Given the description of an element on the screen output the (x, y) to click on. 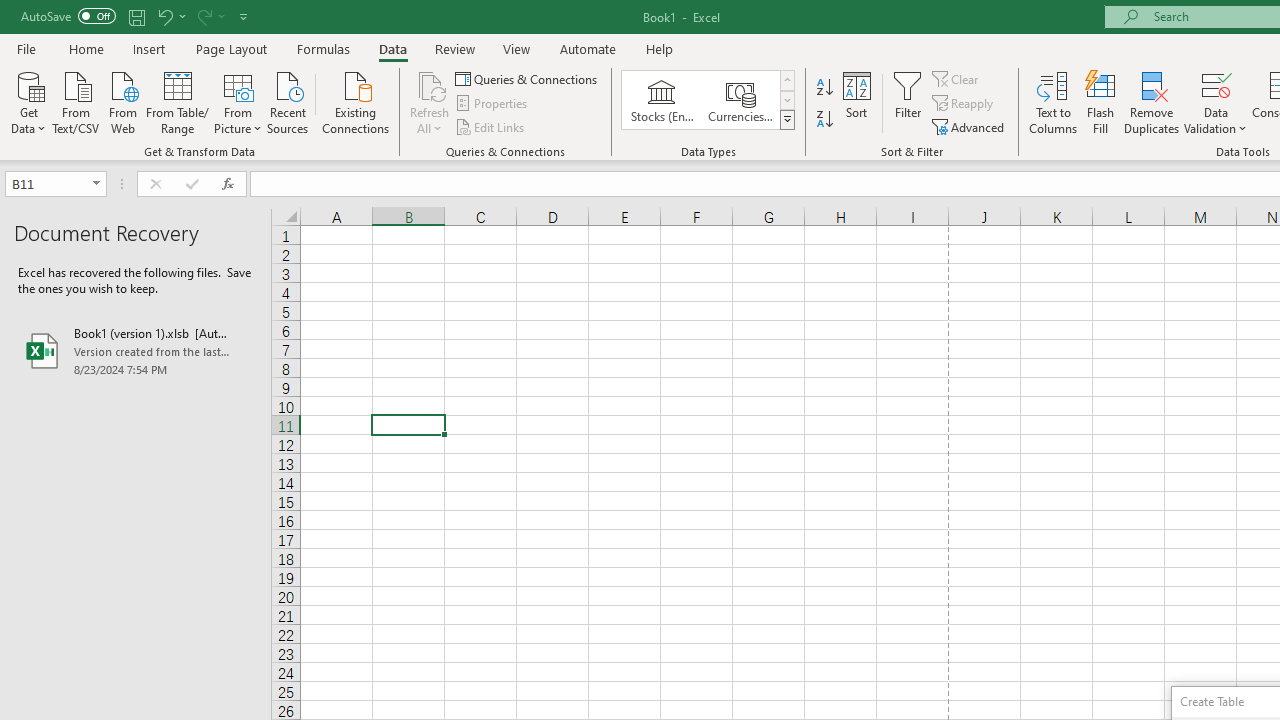
Existing Connections (355, 101)
Reapply (964, 103)
From Web (122, 101)
AutomationID: ConvertToLinkedEntity (708, 99)
